Given the description of an element on the screen output the (x, y) to click on. 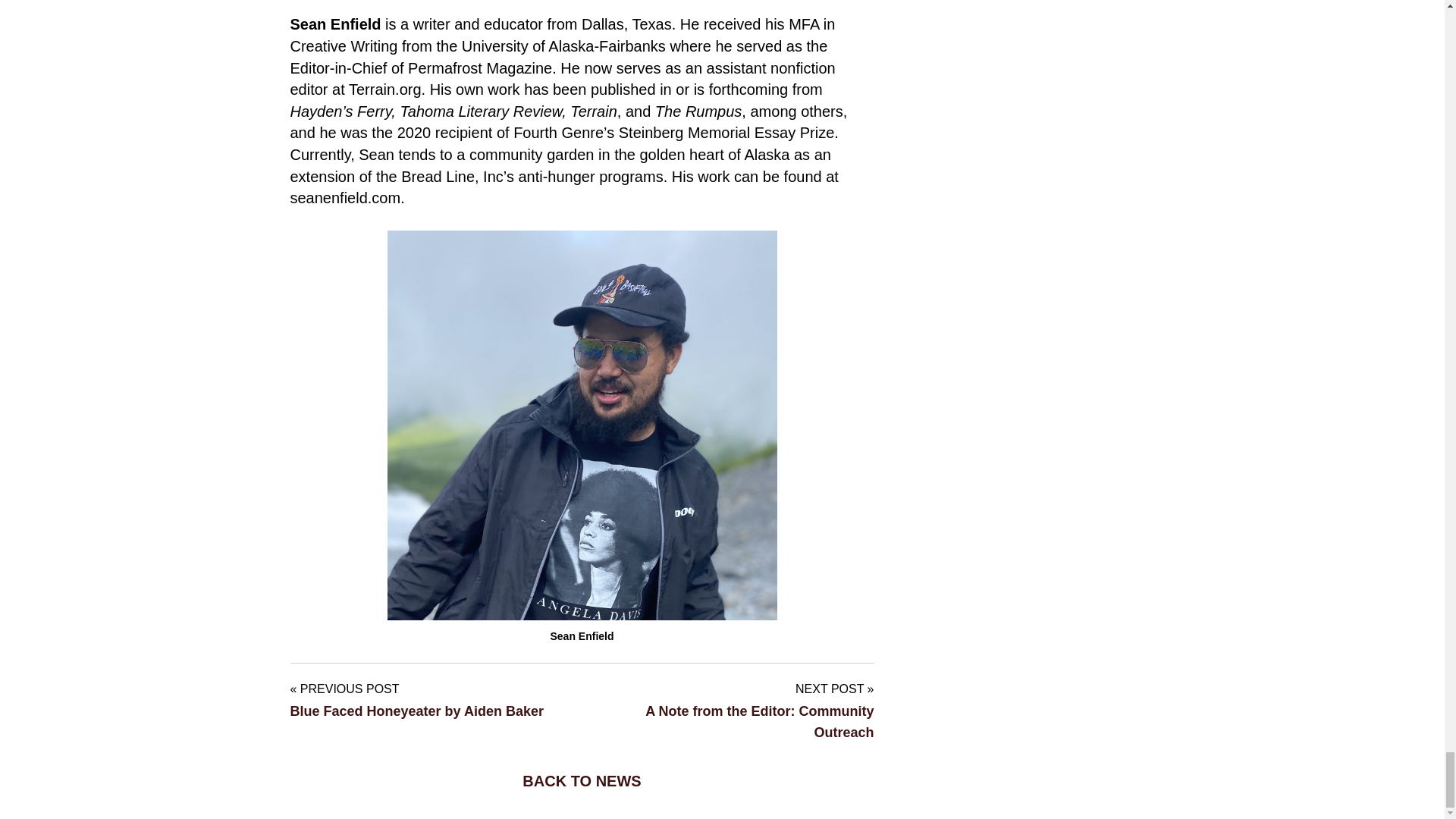
Blue Faced Honeyeater by Aiden Baker  (418, 711)
A Note from the Editor: Community Outreach (759, 722)
BACK TO NEWS (581, 774)
